Given the description of an element on the screen output the (x, y) to click on. 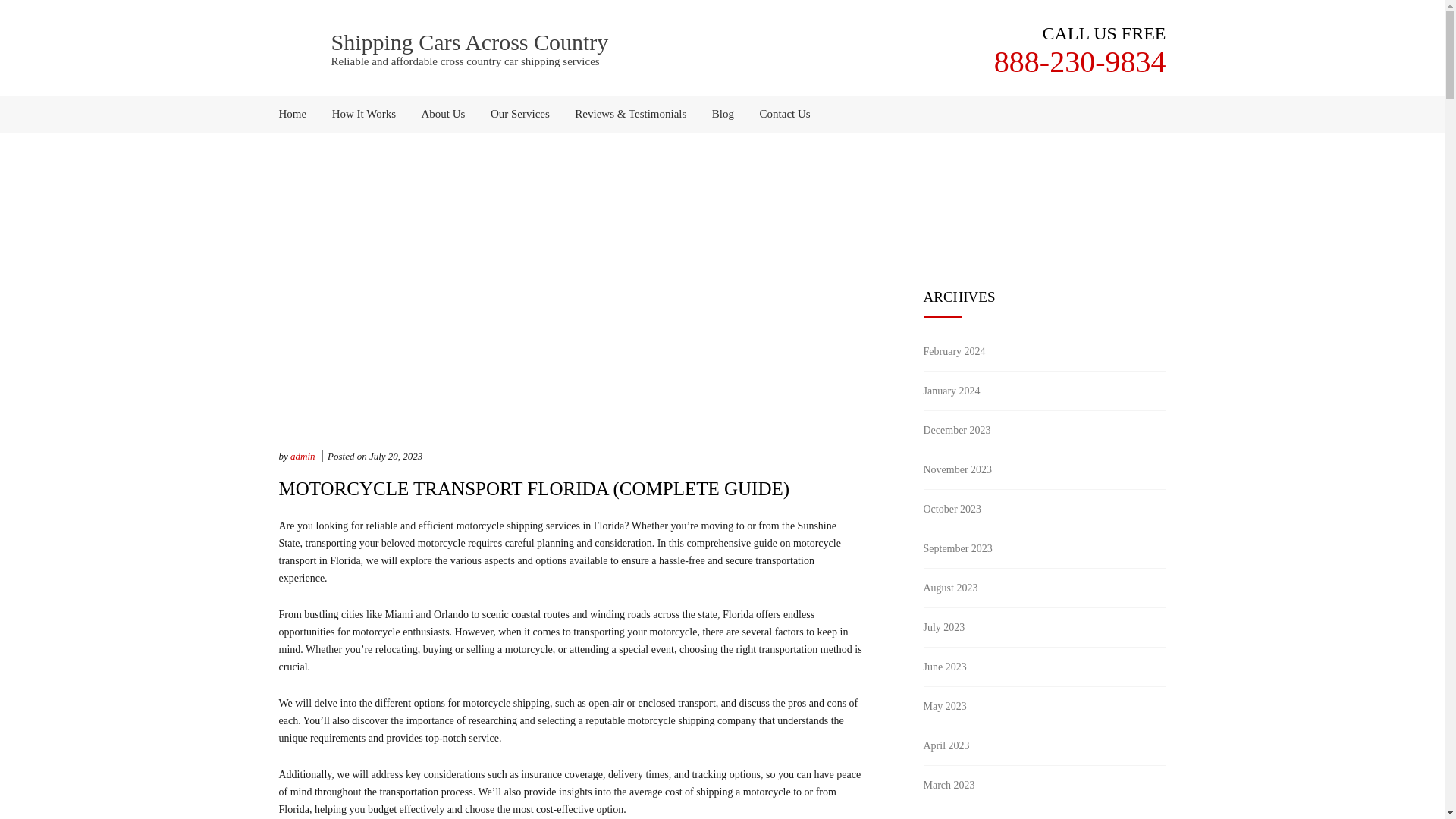
Home (298, 114)
888-230-9834 (1080, 61)
Contact Us (779, 114)
admin (302, 455)
Blog (722, 114)
How It Works (363, 114)
Shipping Cars Across Country (469, 42)
Our Services (519, 114)
About Us (443, 114)
Posts by admin (302, 455)
